Given the description of an element on the screen output the (x, y) to click on. 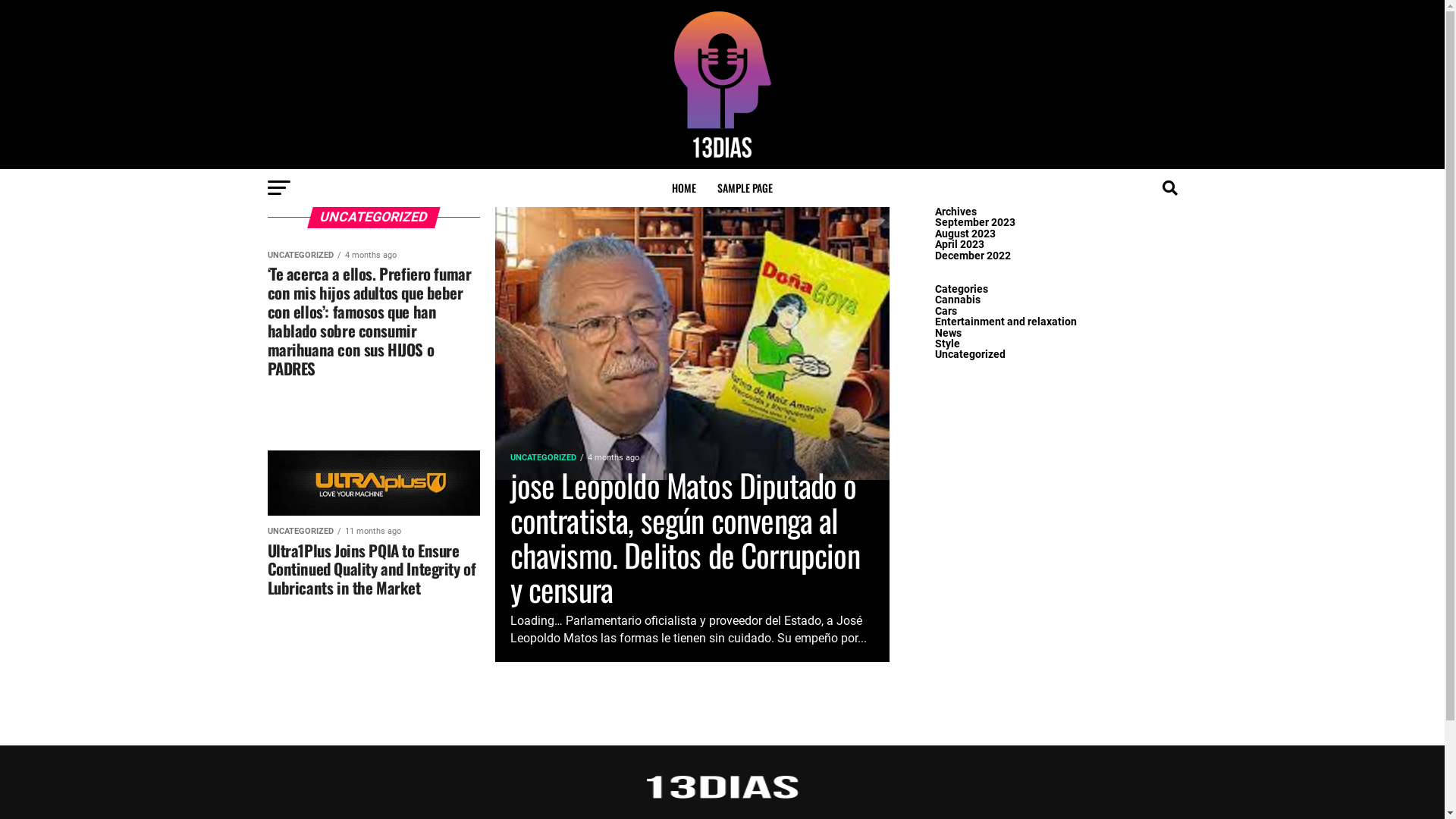
Cannabis Element type: text (956, 299)
September 2023 Element type: text (974, 222)
August 2023 Element type: text (964, 233)
Uncategorized Element type: text (969, 354)
Style Element type: text (946, 343)
HOME Element type: text (683, 188)
Entertainment and relaxation Element type: text (1005, 321)
Cars Element type: text (945, 310)
December 2022 Element type: text (972, 255)
April 2023 Element type: text (958, 244)
News Element type: text (947, 332)
SAMPLE PAGE Element type: text (744, 188)
